Given the description of an element on the screen output the (x, y) to click on. 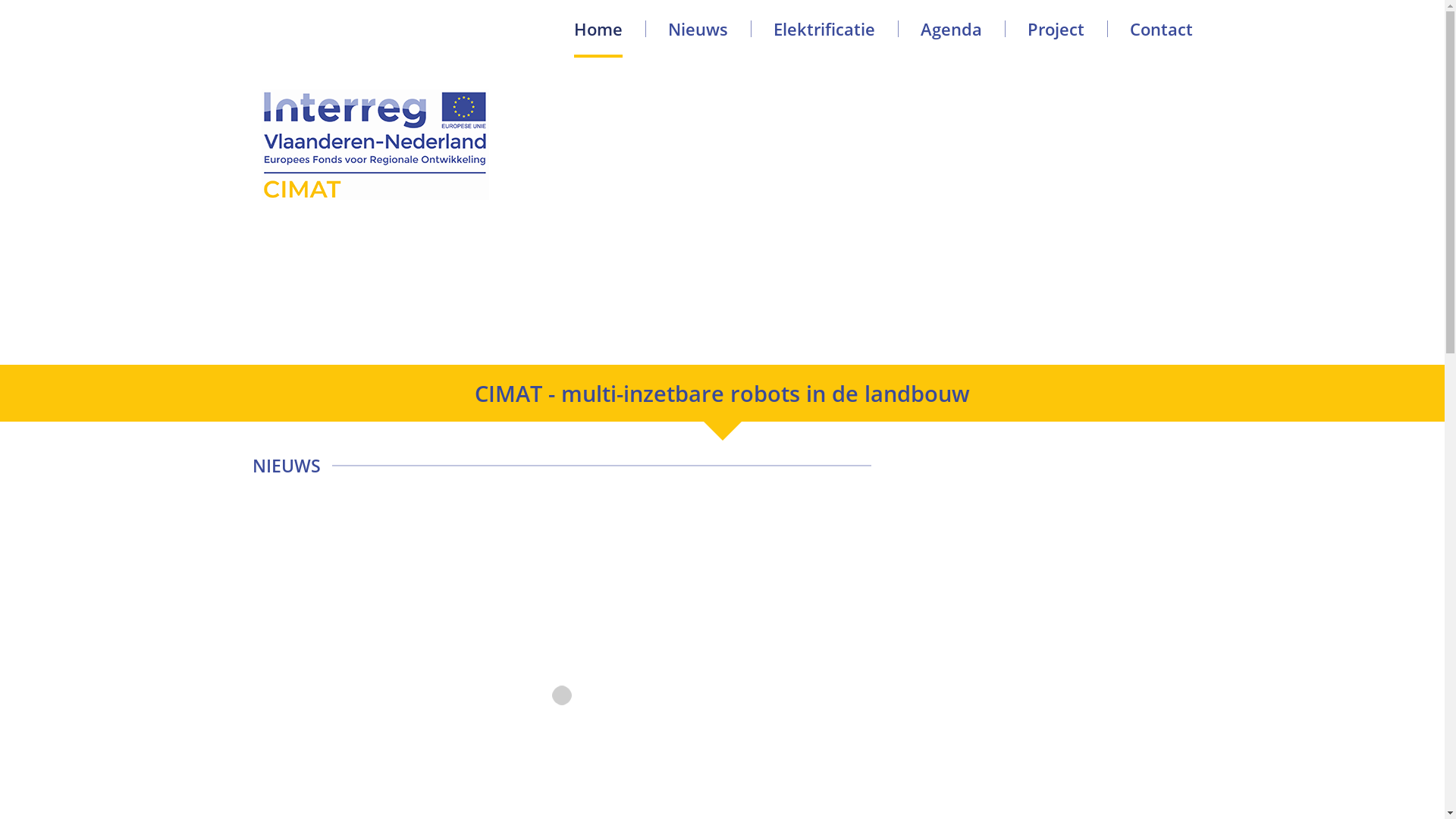
Cimat Element type: text (374, 144)
Contact Element type: text (1161, 28)
Elektrificatie Element type: text (823, 28)
Project Element type: text (1055, 28)
Home Element type: text (597, 28)
Nieuws Element type: text (696, 28)
Agenda Element type: text (950, 28)
